Given the description of an element on the screen output the (x, y) to click on. 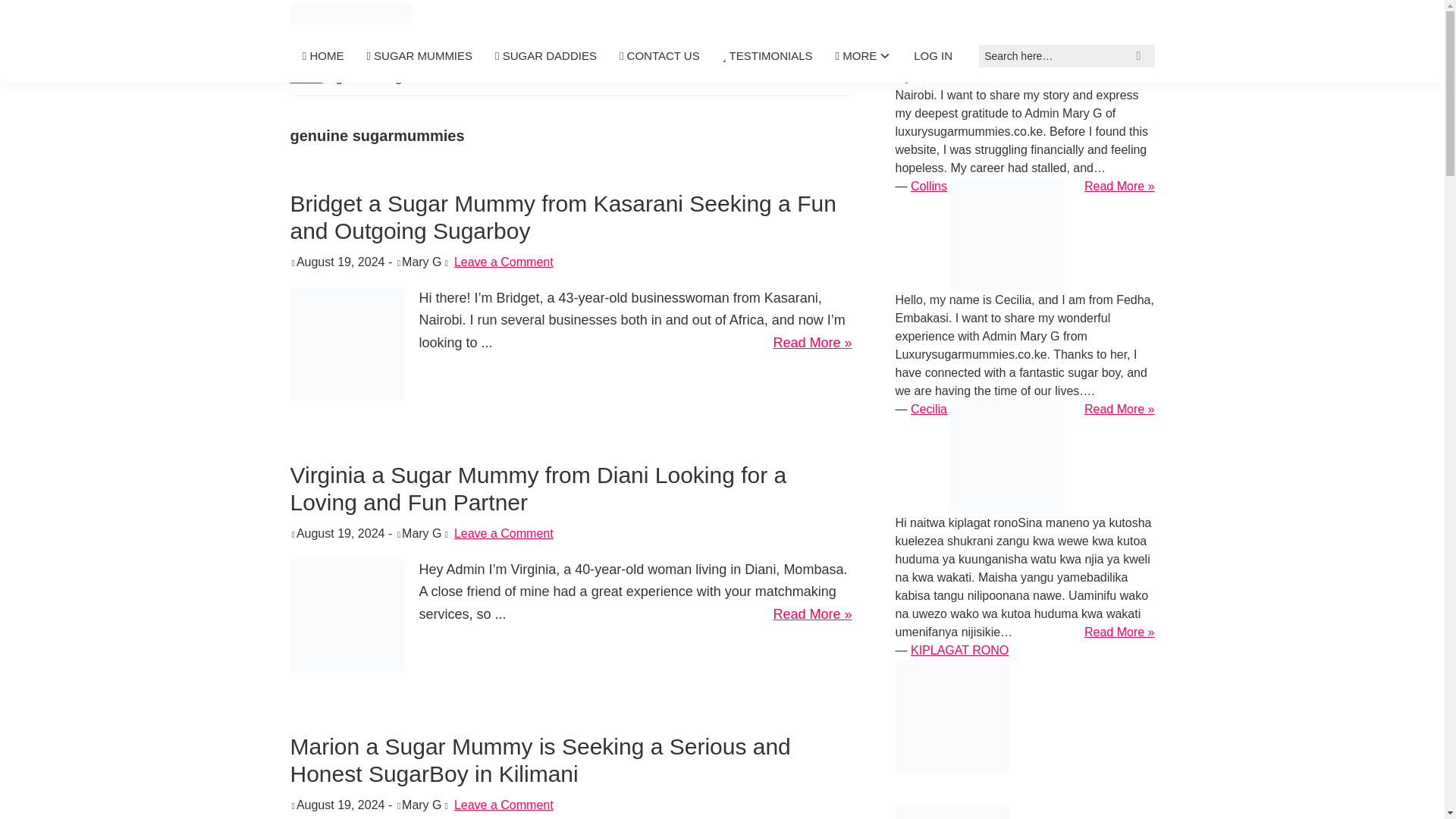
CONTACT US (659, 55)
KIPLAGAT RONO (960, 649)
Home (305, 77)
HOME (323, 55)
SUGAR DADDIES (545, 55)
Leave a Comment (503, 804)
LOG IN (932, 55)
Collins (929, 185)
